Given the description of an element on the screen output the (x, y) to click on. 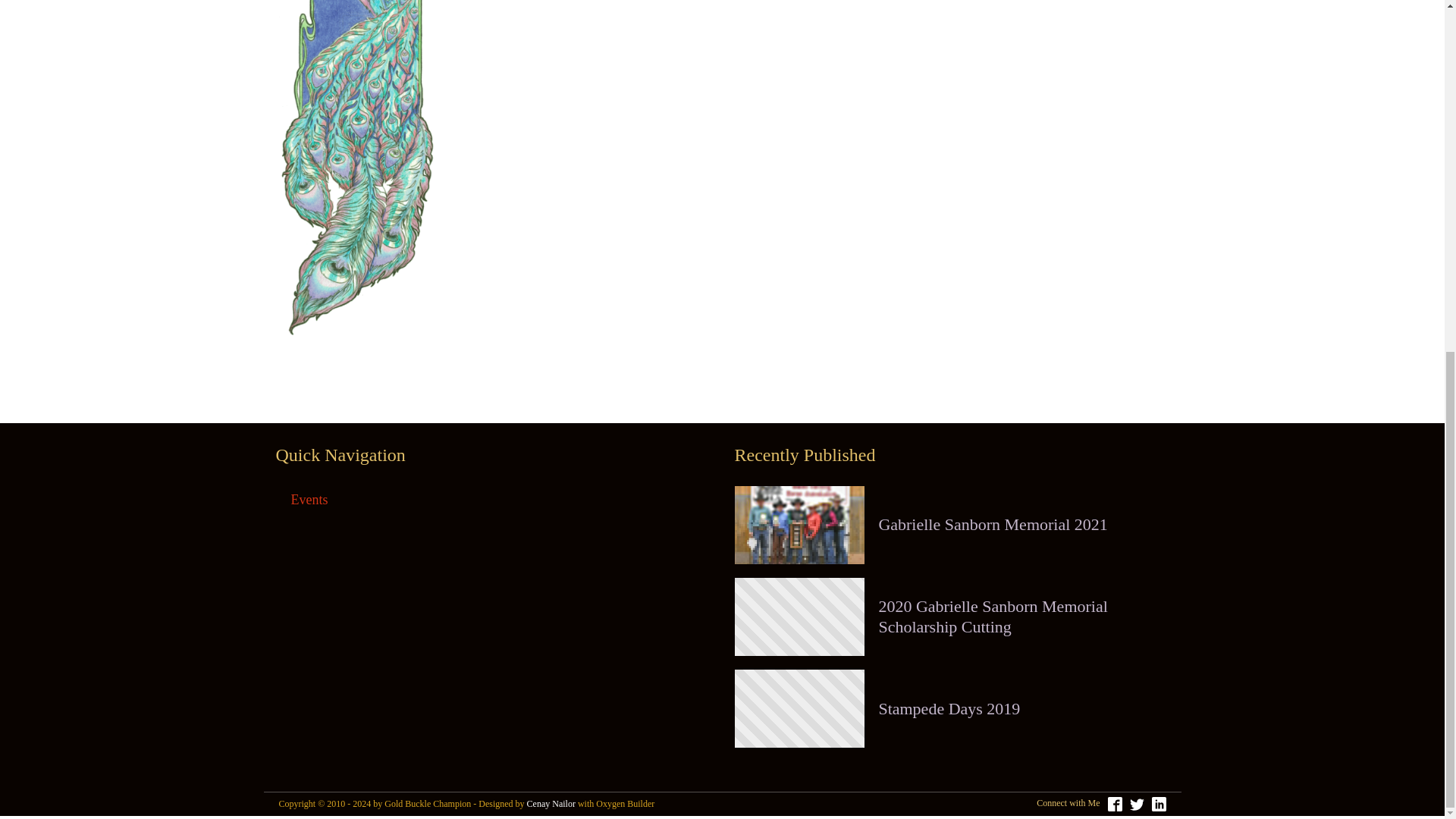
Cenay Nailor (551, 803)
Events (309, 500)
Gabrielle Sanborn Memorial 2021 (991, 524)
2020 Gabrielle Sanborn Memorial Scholarship Cutting (1023, 617)
Stampede Days 2019 (948, 709)
